Given the description of an element on the screen output the (x, y) to click on. 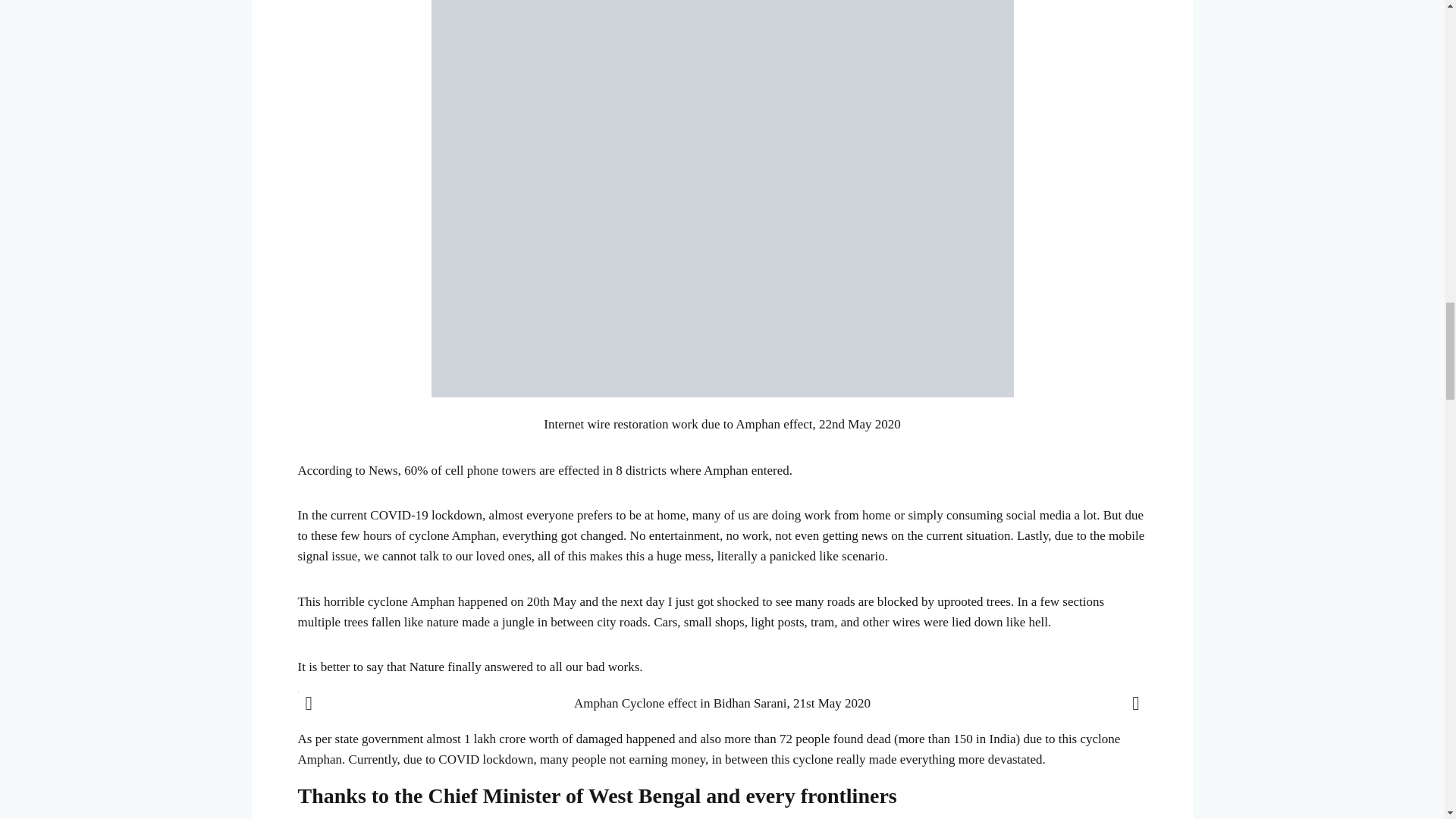
Amphan Cyclone effect in Bidhan Sarani, 21st May 2020 (722, 702)
